Given the description of an element on the screen output the (x, y) to click on. 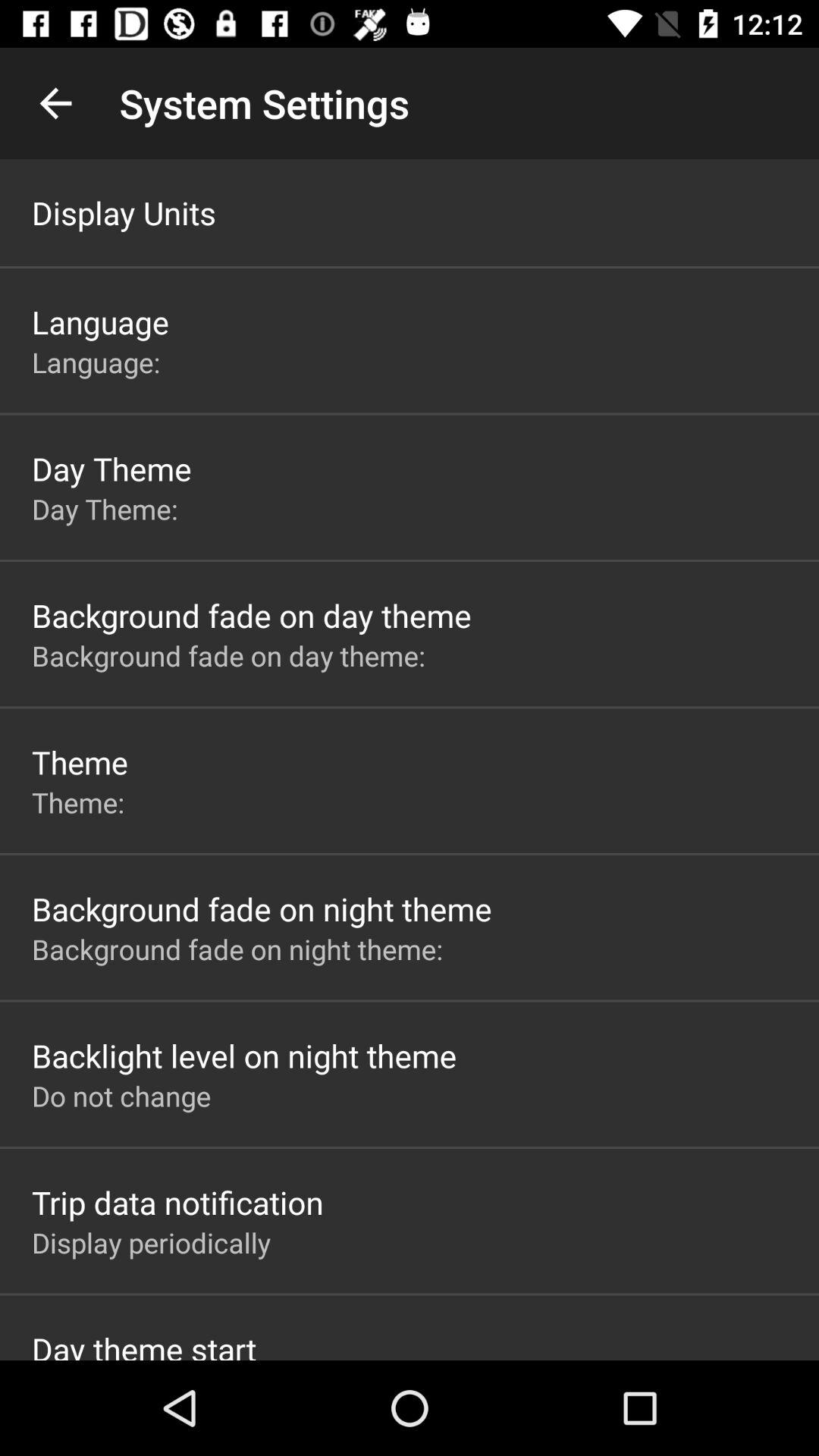
launch icon below the language item (99, 362)
